Given the description of an element on the screen output the (x, y) to click on. 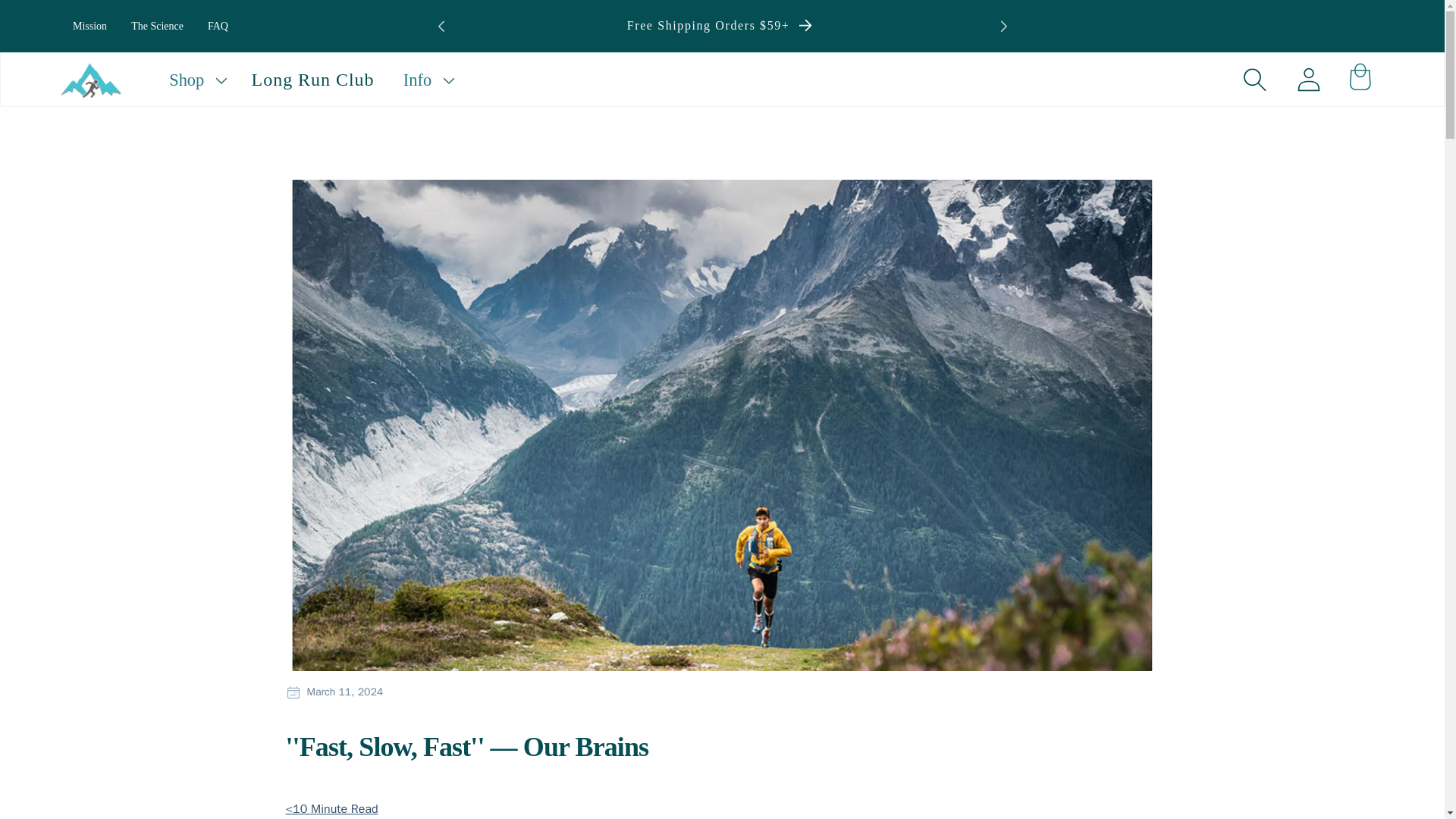
FAQ (217, 26)
Skip to content (73, 27)
Mission (90, 26)
Long Run Club (311, 78)
The Science (157, 26)
